Given the description of an element on the screen output the (x, y) to click on. 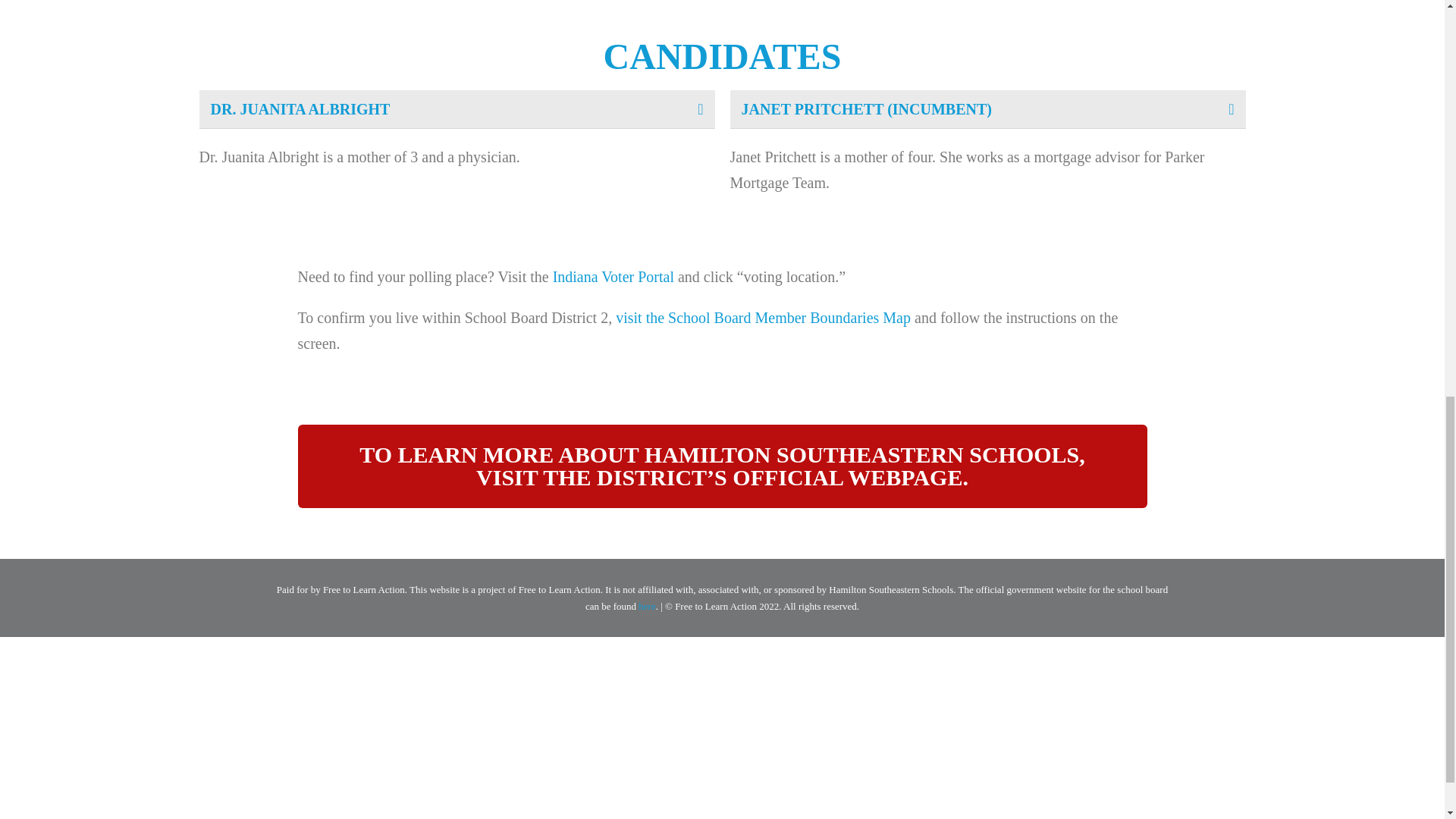
here (647, 605)
visit the School Board Member Boundaries Map (763, 317)
DR. JUANITA ALBRIGHT (300, 108)
Indiana Voter Portal (613, 276)
